Given the description of an element on the screen output the (x, y) to click on. 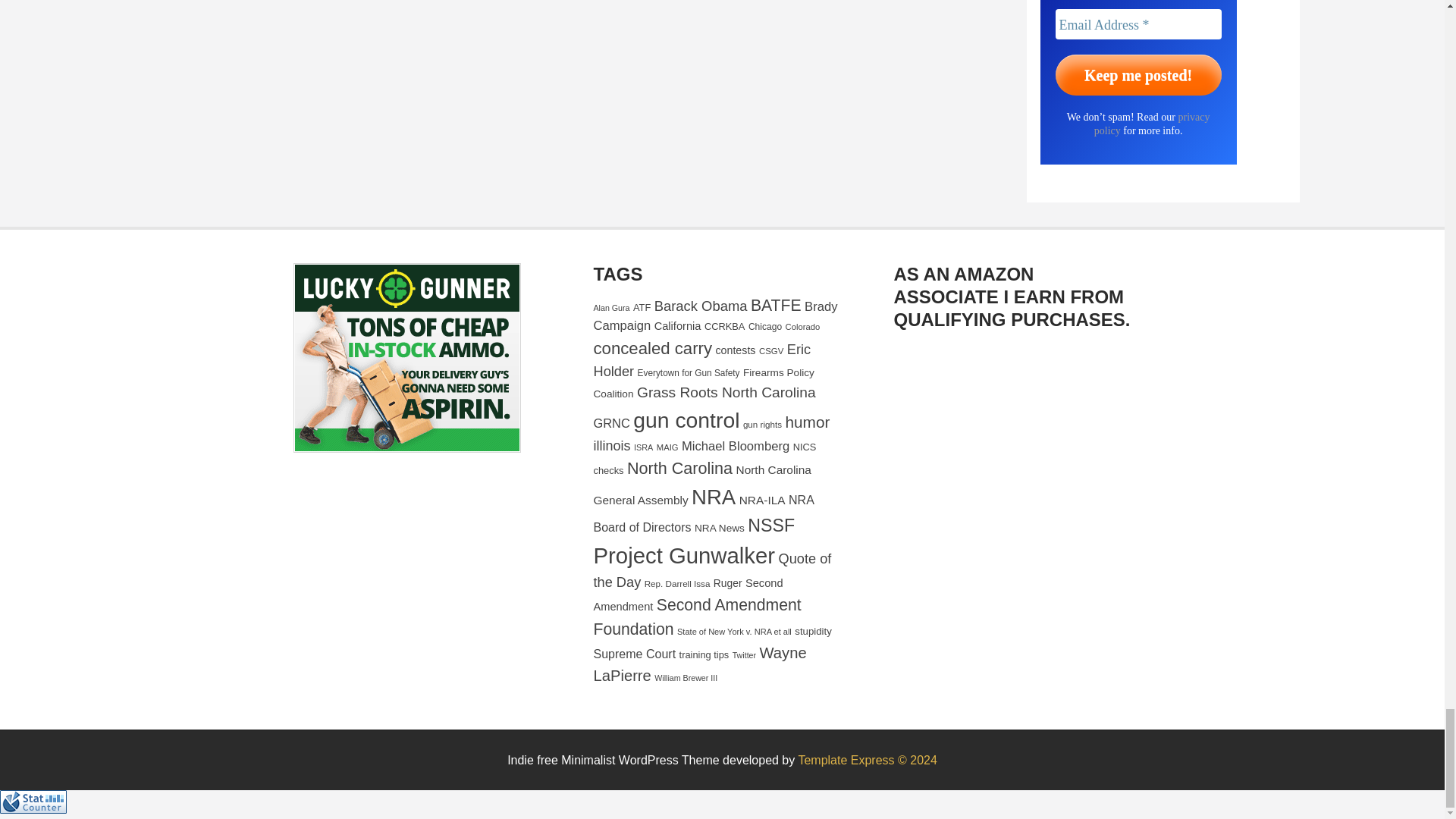
Cheap Bulk ammo  (405, 357)
Email Address (1138, 24)
Keep me posted! (1138, 74)
